Given the description of an element on the screen output the (x, y) to click on. 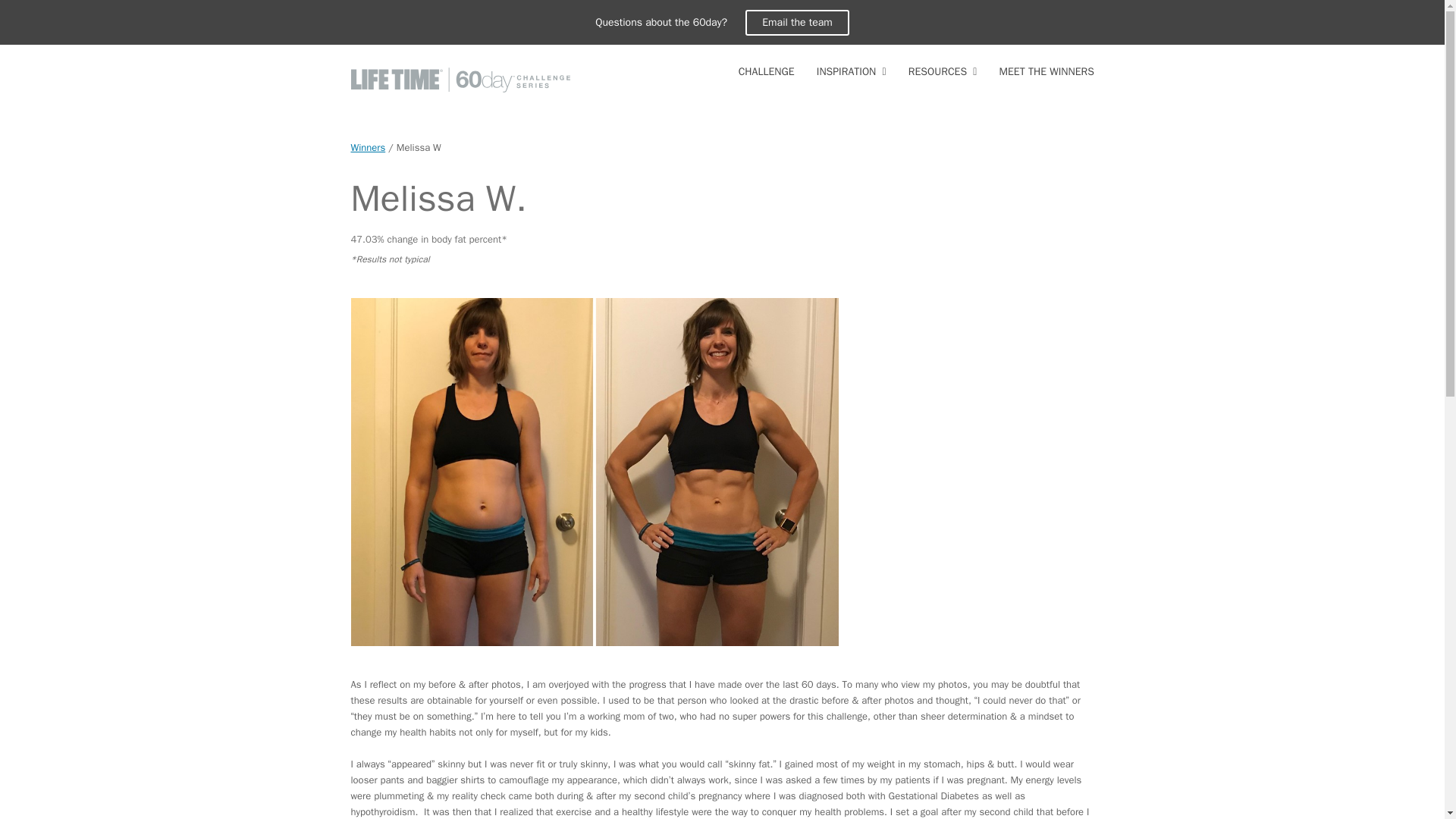
CHALLENGE (766, 72)
Email the team (796, 22)
MEET THE WINNERS (1046, 72)
RESOURCES (942, 72)
INSPIRATION (851, 72)
